Given the description of an element on the screen output the (x, y) to click on. 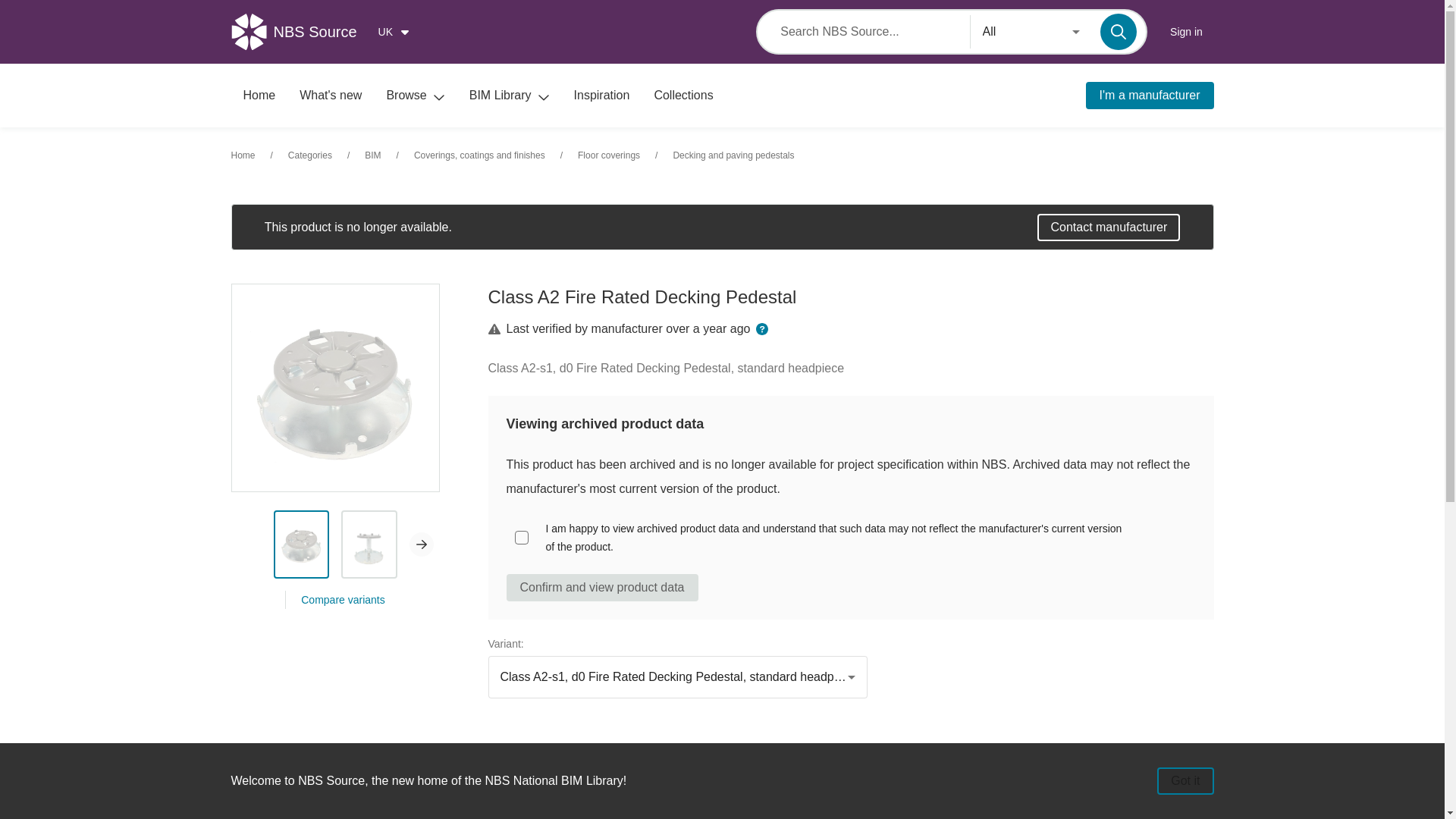
Homepage (258, 95)
BIM Library (509, 95)
What's new (330, 95)
Floor coverings (609, 155)
Browse what's new (330, 95)
Browse (415, 95)
Browse inspiration (602, 95)
Home (258, 95)
Compare variants (343, 599)
BIM Library (509, 95)
